Given the description of an element on the screen output the (x, y) to click on. 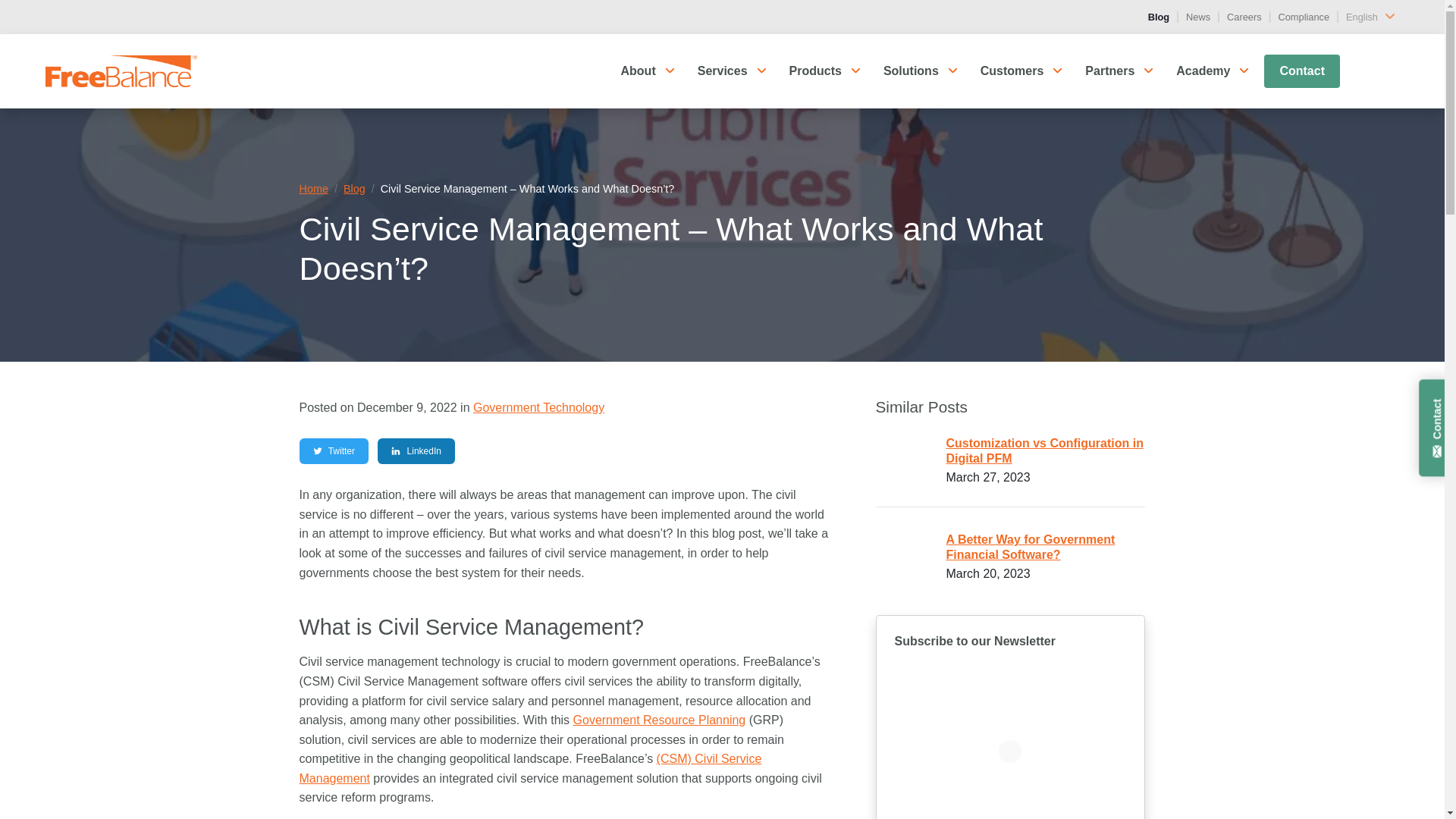
News (1197, 16)
Services (722, 70)
Customers (1012, 70)
Blog (1158, 16)
Compliance (1304, 16)
English (1372, 16)
Products (815, 70)
Solutions (910, 70)
Share on Twitter (333, 451)
About (637, 70)
Share on LinkedIn (415, 451)
Careers (1244, 16)
